Given the description of an element on the screen output the (x, y) to click on. 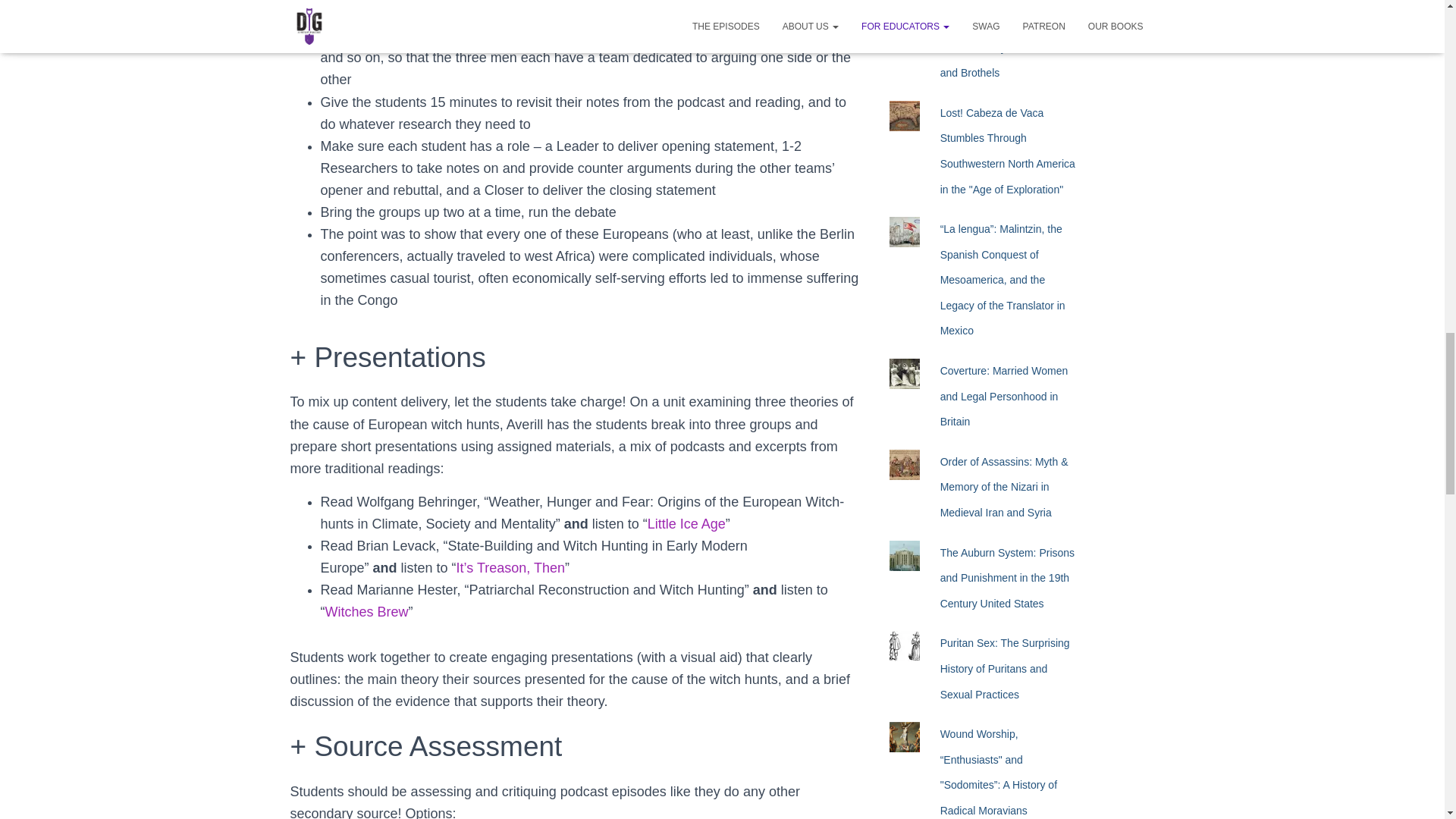
Little Ice Age (686, 523)
Witches Brew (365, 611)
